Given the description of an element on the screen output the (x, y) to click on. 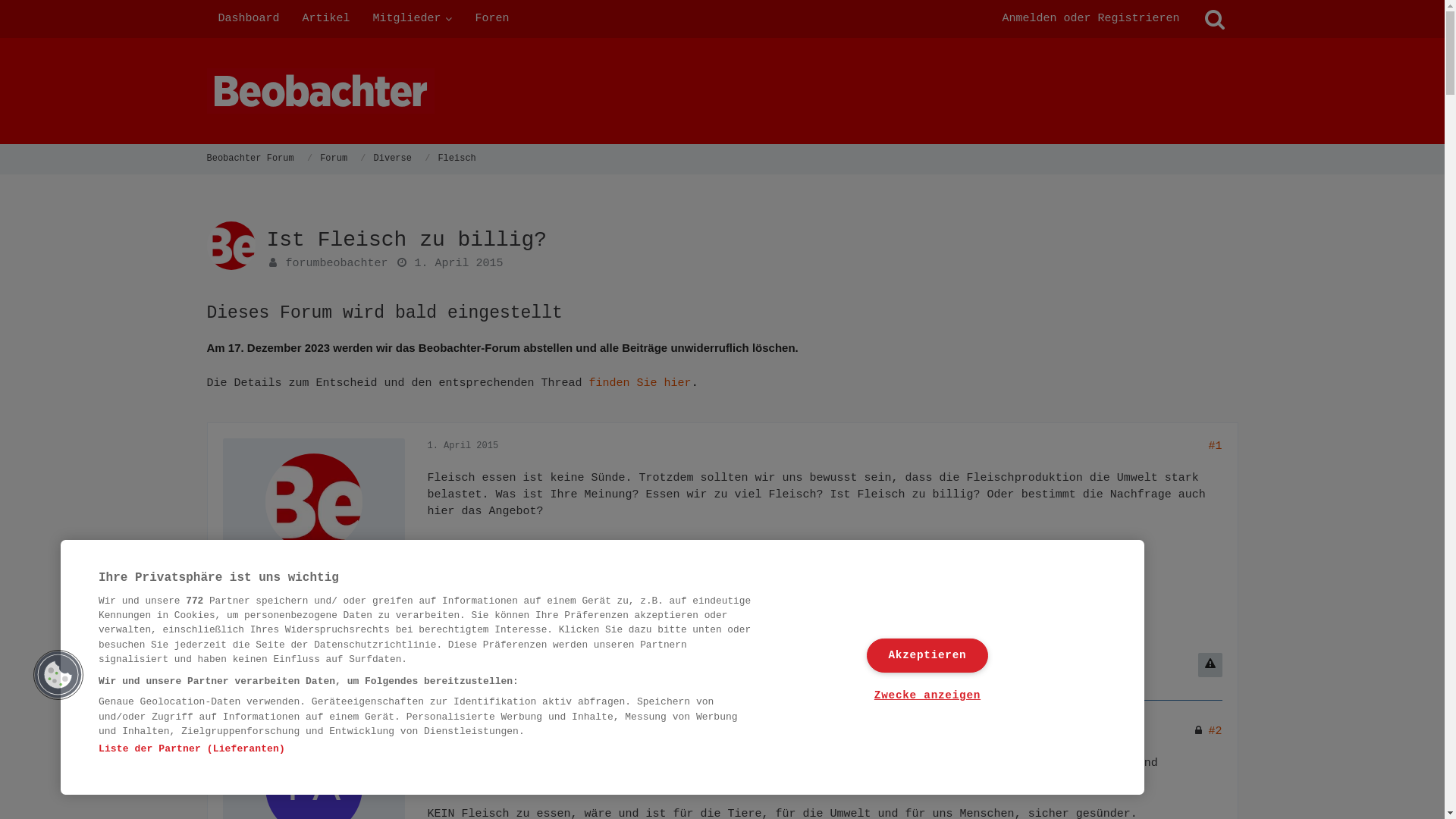
Forum Element type: text (333, 158)
Mitglieder Element type: text (412, 18)
Foren Element type: text (492, 18)
1. April 2015 Element type: text (462, 445)
Artikel Element type: text (257, 635)
Artikel Element type: text (326, 18)
Diverse Element type: text (392, 158)
1. April 2015 Element type: text (458, 263)
forumbeobachter Element type: text (312, 566)
Reaktionen Element type: text (265, 617)
#1 Element type: text (1214, 445)
Cookies Button Element type: text (58, 674)
1. April 2015 Element type: text (462, 730)
Fleisch Element type: text (456, 158)
Zwecke anzeigen Element type: text (927, 695)
Liste der Partner (Lieferanten) Element type: text (191, 748)
Anmelden oder Registrieren Element type: text (1090, 18)
Akzeptieren Element type: text (927, 655)
Dashboard Element type: text (248, 18)
finden Sie hier Element type: text (640, 382)
#2 Element type: text (1214, 730)
Beobachter Forum Element type: text (249, 158)
forumbeobachter Element type: text (336, 263)
